Given the description of an element on the screen output the (x, y) to click on. 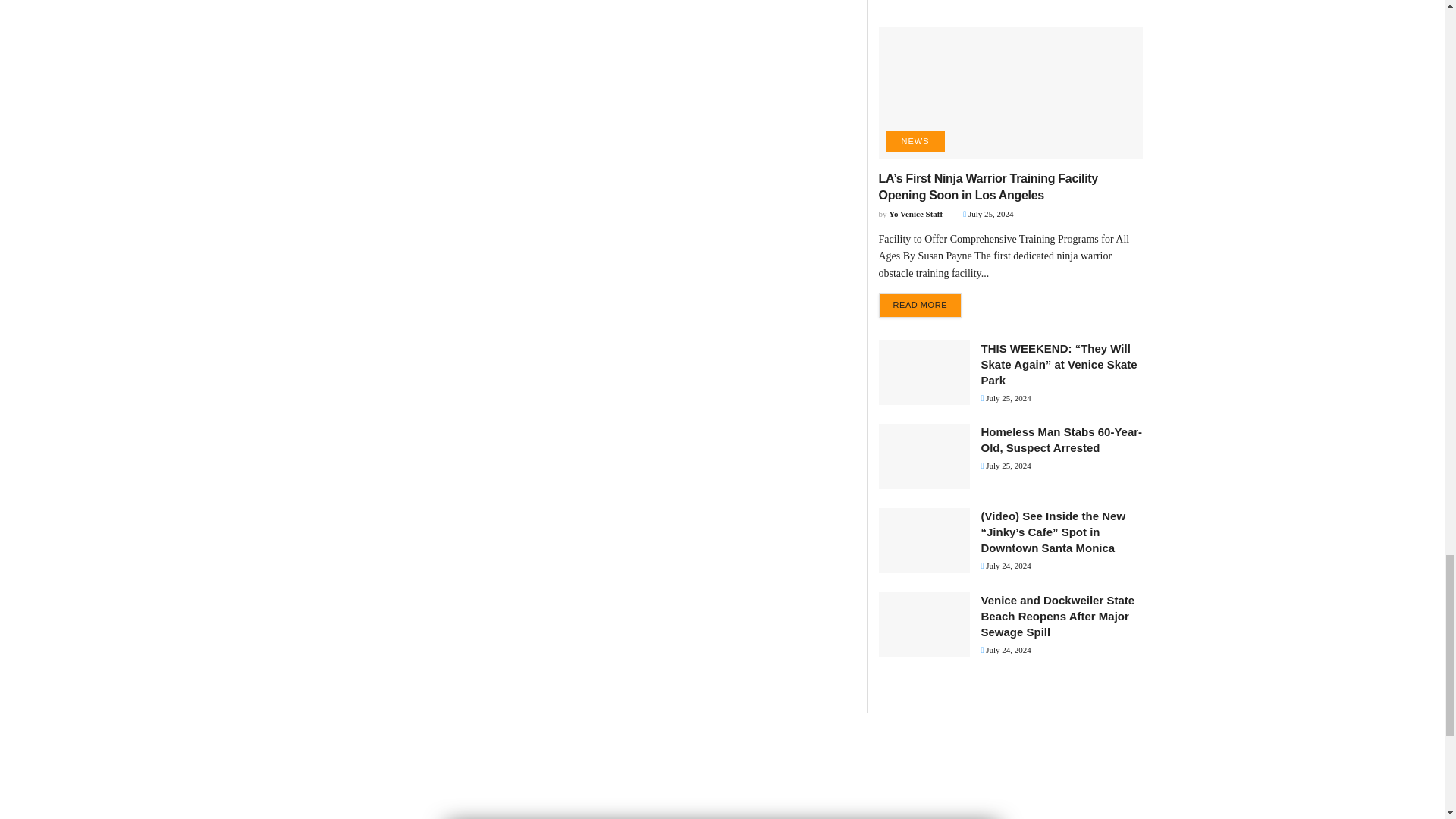
NEWS (914, 141)
